Given the description of an element on the screen output the (x, y) to click on. 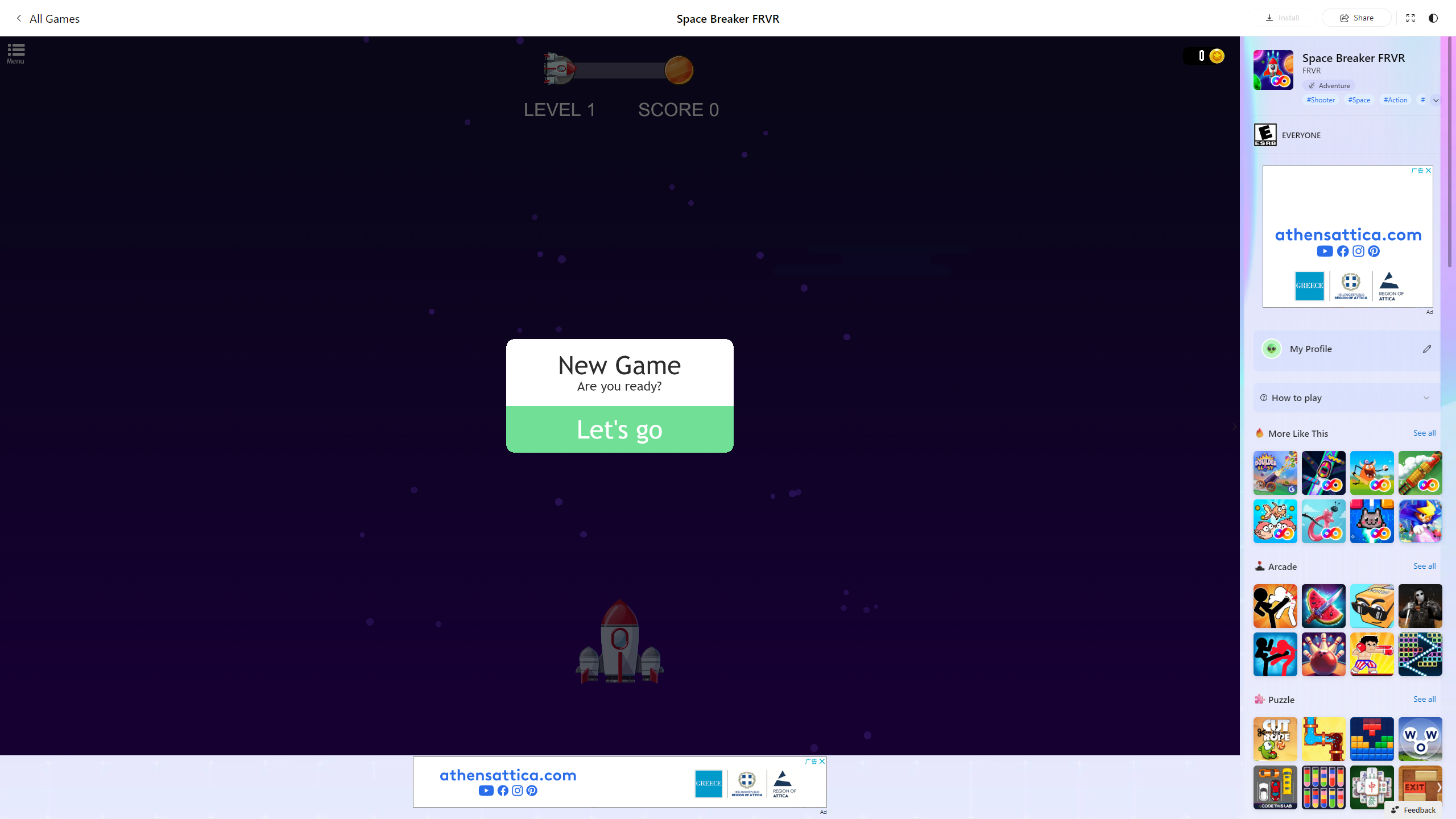
Balloon FRVR (1324, 521)
Space Breaker FRVR (1272, 69)
Puzzle (1259, 698)
Boxing fighter : Super punch (1372, 653)
Share (1356, 17)
Bricks Breaker Deluxe Crusher (1420, 653)
Fruit Chopper (1324, 605)
Stickman Fighter : Mega Brawl (1275, 605)
Fish Merge FRVR (1275, 521)
""'s avatar (1271, 348)
Super Bowling Mania (1324, 653)
BlockBuster: Adventures Puzzle (1372, 738)
Kitten Force FRVR (1372, 521)
